Given the description of an element on the screen output the (x, y) to click on. 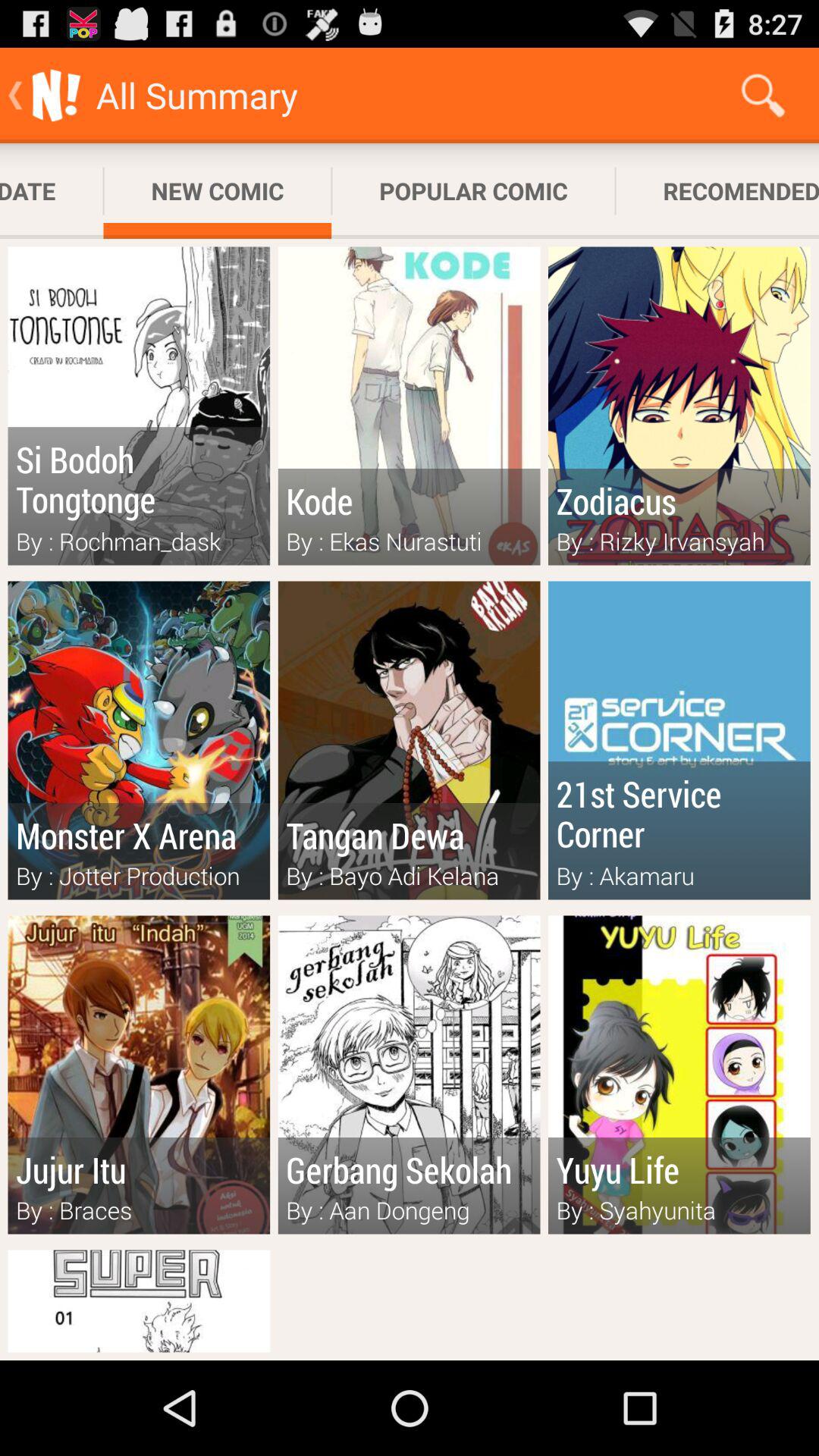
open the icon next to new comic app (51, 190)
